Given the description of an element on the screen output the (x, y) to click on. 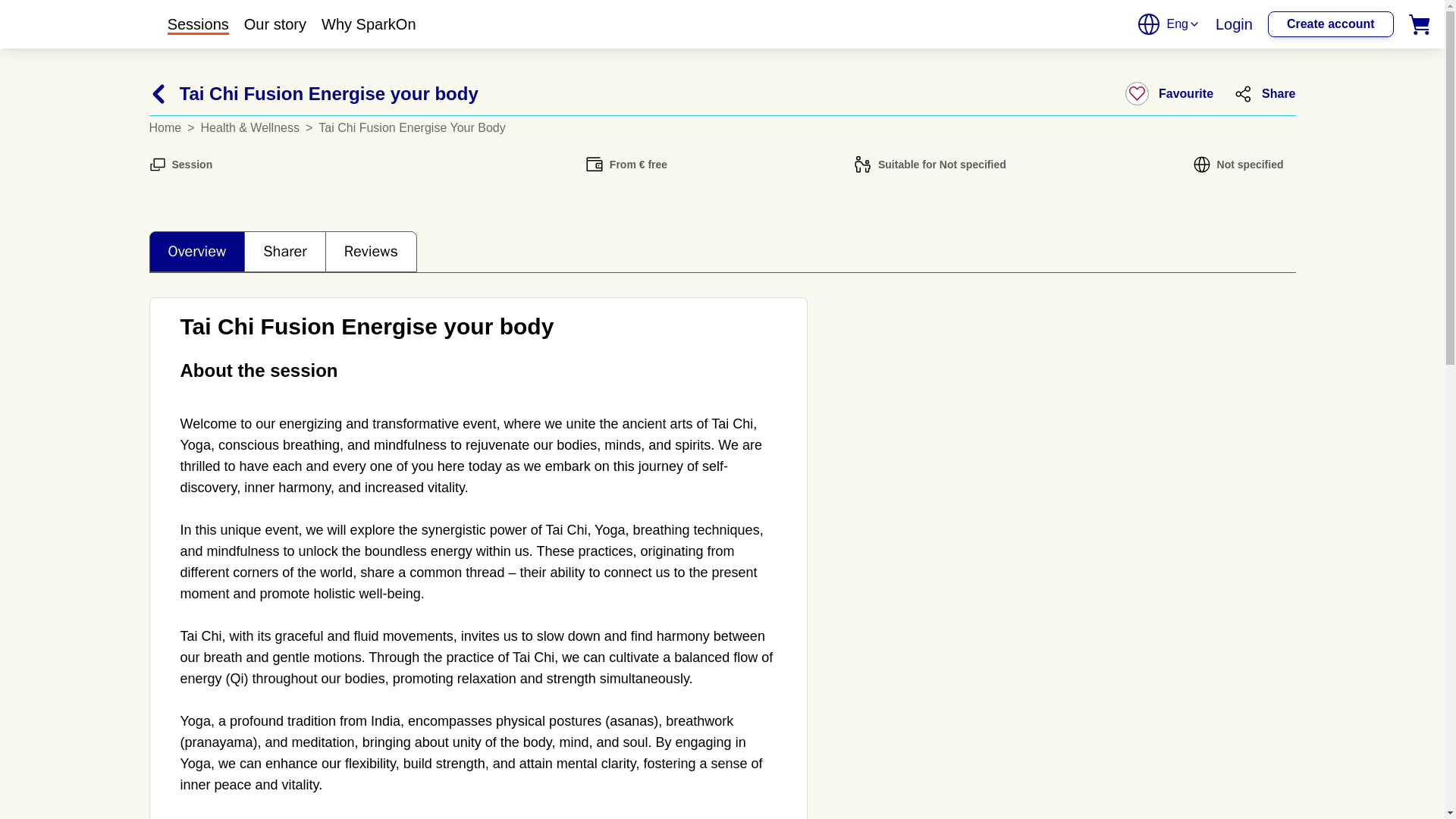
Login (1233, 23)
Overview (196, 251)
Sessions (197, 24)
Our story (274, 24)
Why SparkOn (367, 24)
Home (167, 127)
Sharer (284, 250)
Eng (1168, 24)
Overview (196, 250)
Reviews (370, 251)
Reviews (370, 250)
Sharer (284, 251)
Create account (1330, 23)
